Given the description of an element on the screen output the (x, y) to click on. 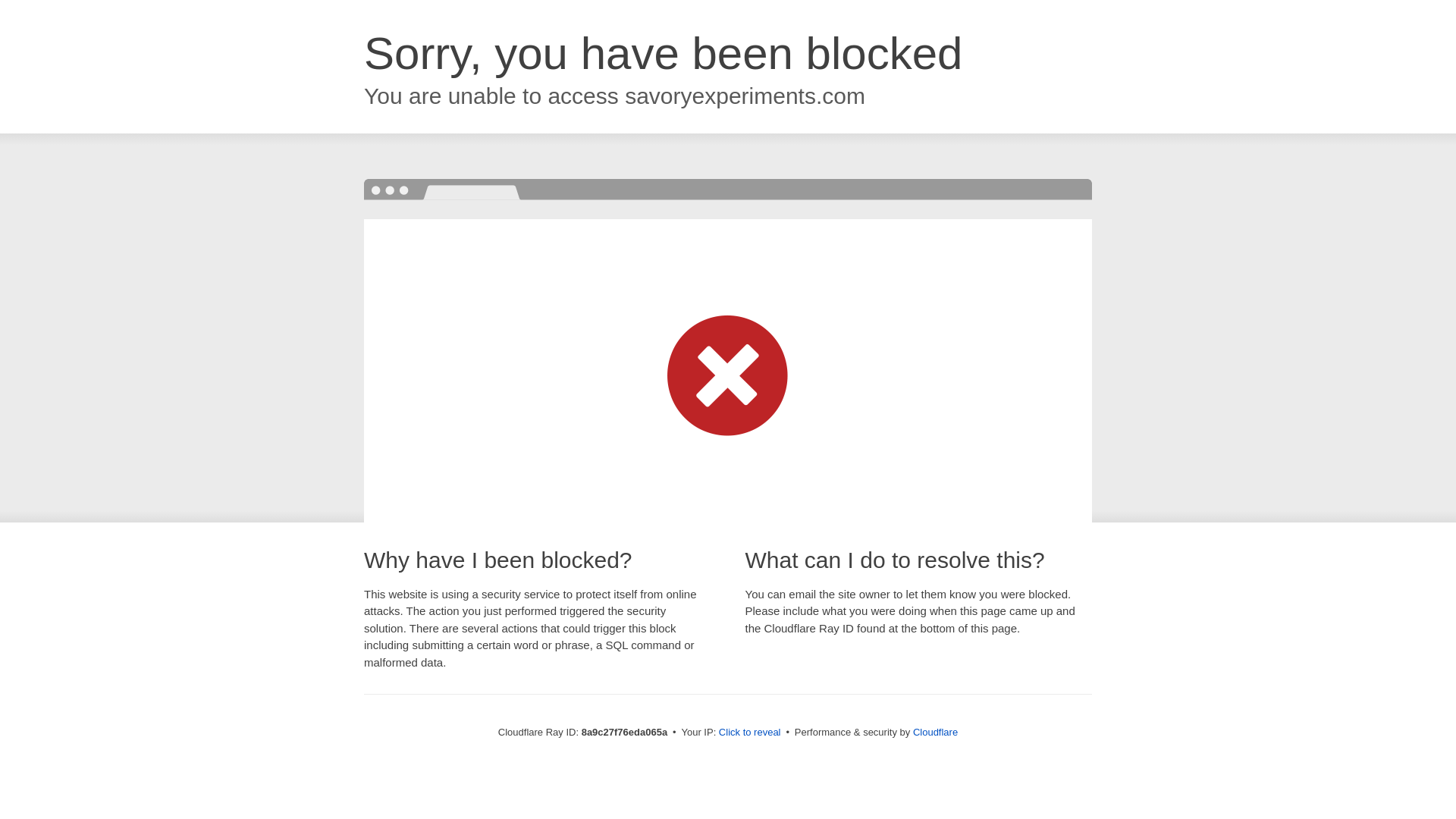
Click to reveal (749, 732)
Cloudflare (935, 731)
